Given the description of an element on the screen output the (x, y) to click on. 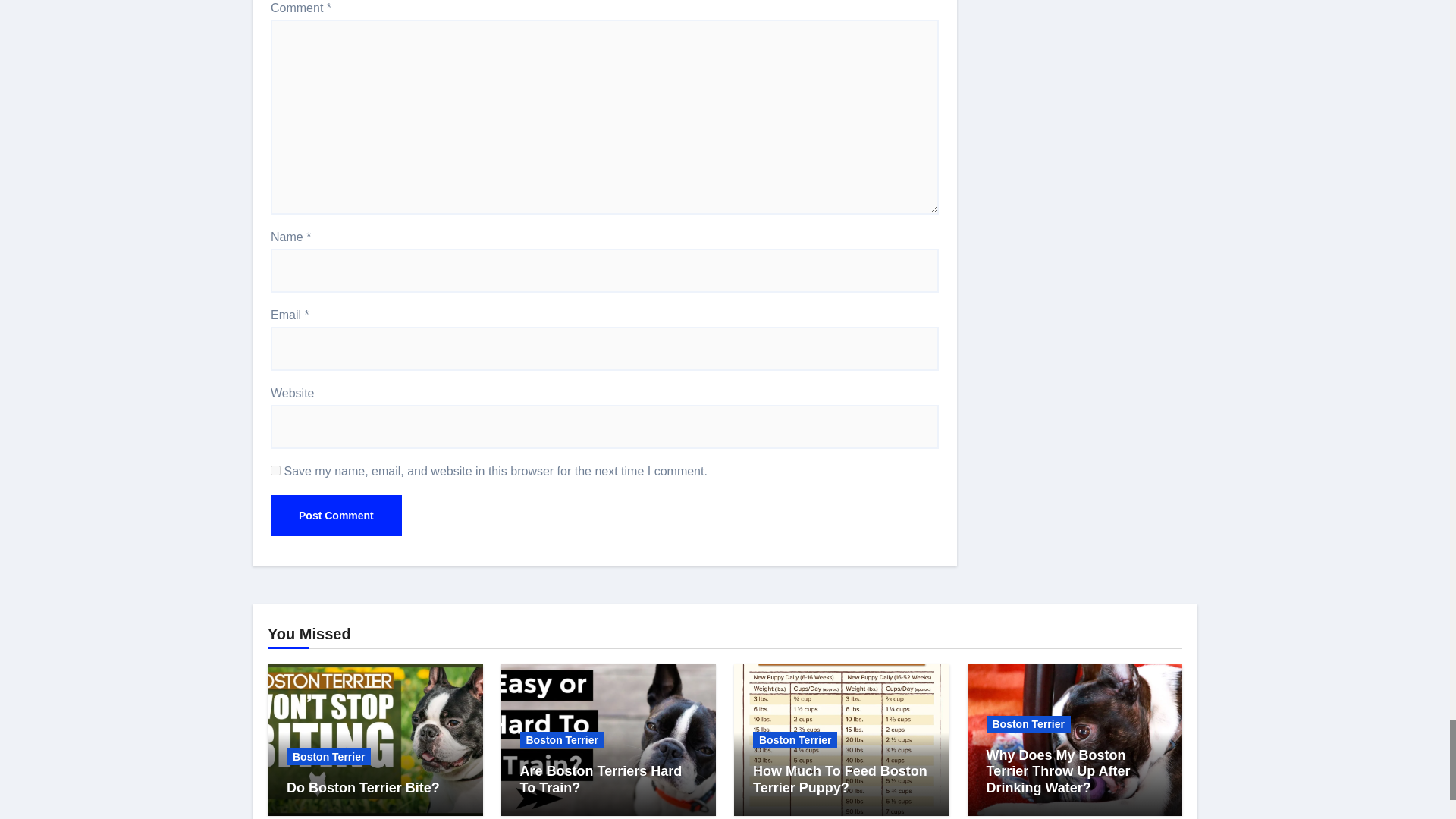
yes (275, 470)
Post Comment (335, 515)
